Given the description of an element on the screen output the (x, y) to click on. 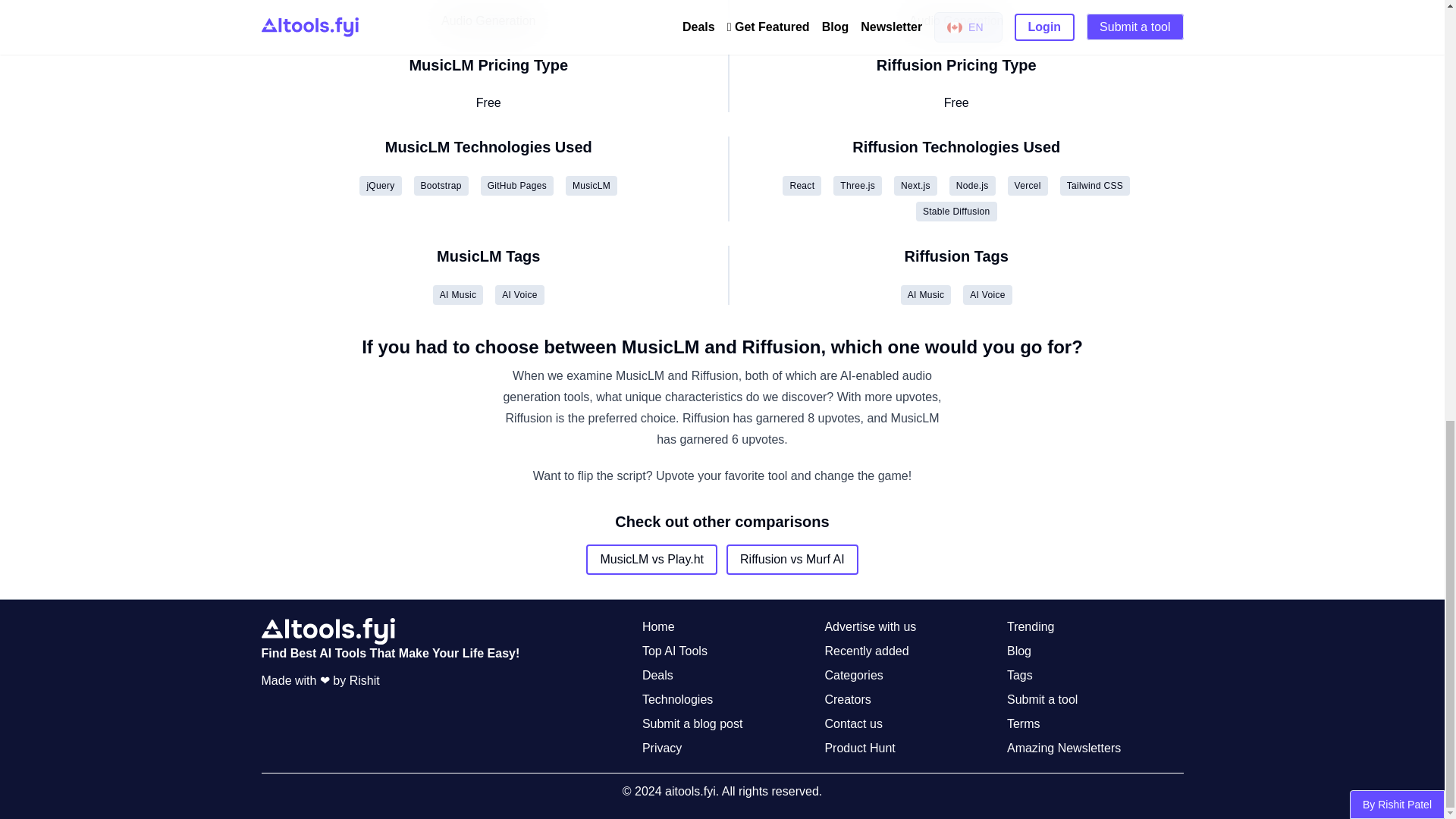
Recently added (866, 651)
Riffusion vs Murf AI (792, 559)
Home (658, 627)
Blog (1018, 651)
Categories (853, 675)
Tags (1019, 675)
Rishit (364, 680)
Trending (1030, 627)
Top AI Tools (674, 651)
Deals (657, 675)
Advertise with us (869, 627)
MusicLM vs Play.ht (651, 559)
